Given the description of an element on the screen output the (x, y) to click on. 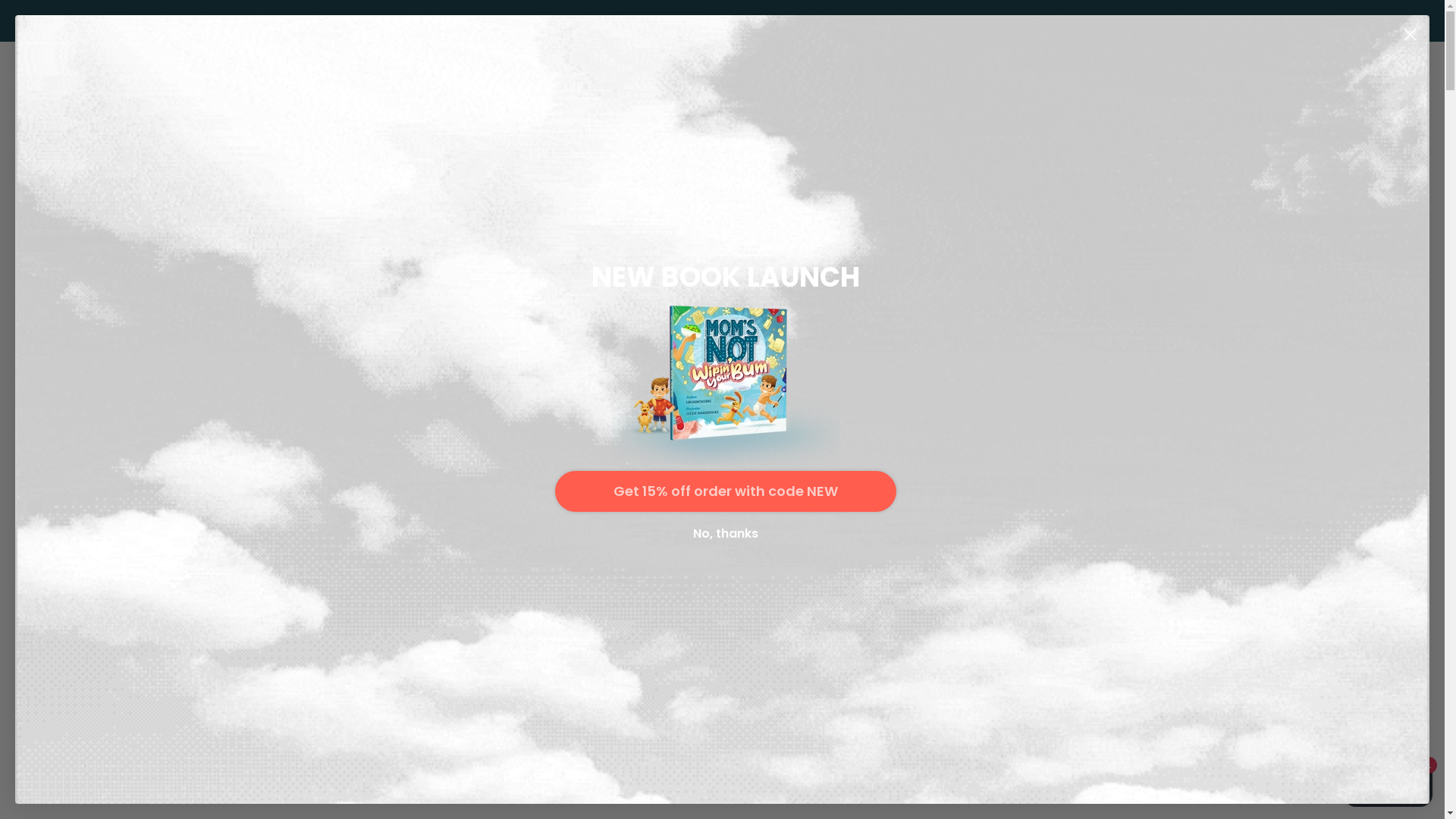
Close dialog 4 Element type: text (1409, 34)
ADD TO CART Element type: text (833, 581)
ABOUT 3+1 PUBLISHING Element type: text (899, 143)
ADD TO CART Element type: text (1054, 581)
No, thanks Element type: text (725, 533)
ABOUT THE AUTHOR Element type: text (722, 143)
SHOP MOM'S NOT Element type: text (544, 143)
CONTACT US Element type: text (1031, 143)
ADD TO CART Element type: text (611, 581)
Get 15% off order with code NEW Element type: text (725, 490)
Shopify online store chat Element type: hover (1388, 780)
Submit Element type: text (21, 7)
ADD TO CART Element type: text (389, 581)
HOME Element type: text (367, 143)
